Given the description of an element on the screen output the (x, y) to click on. 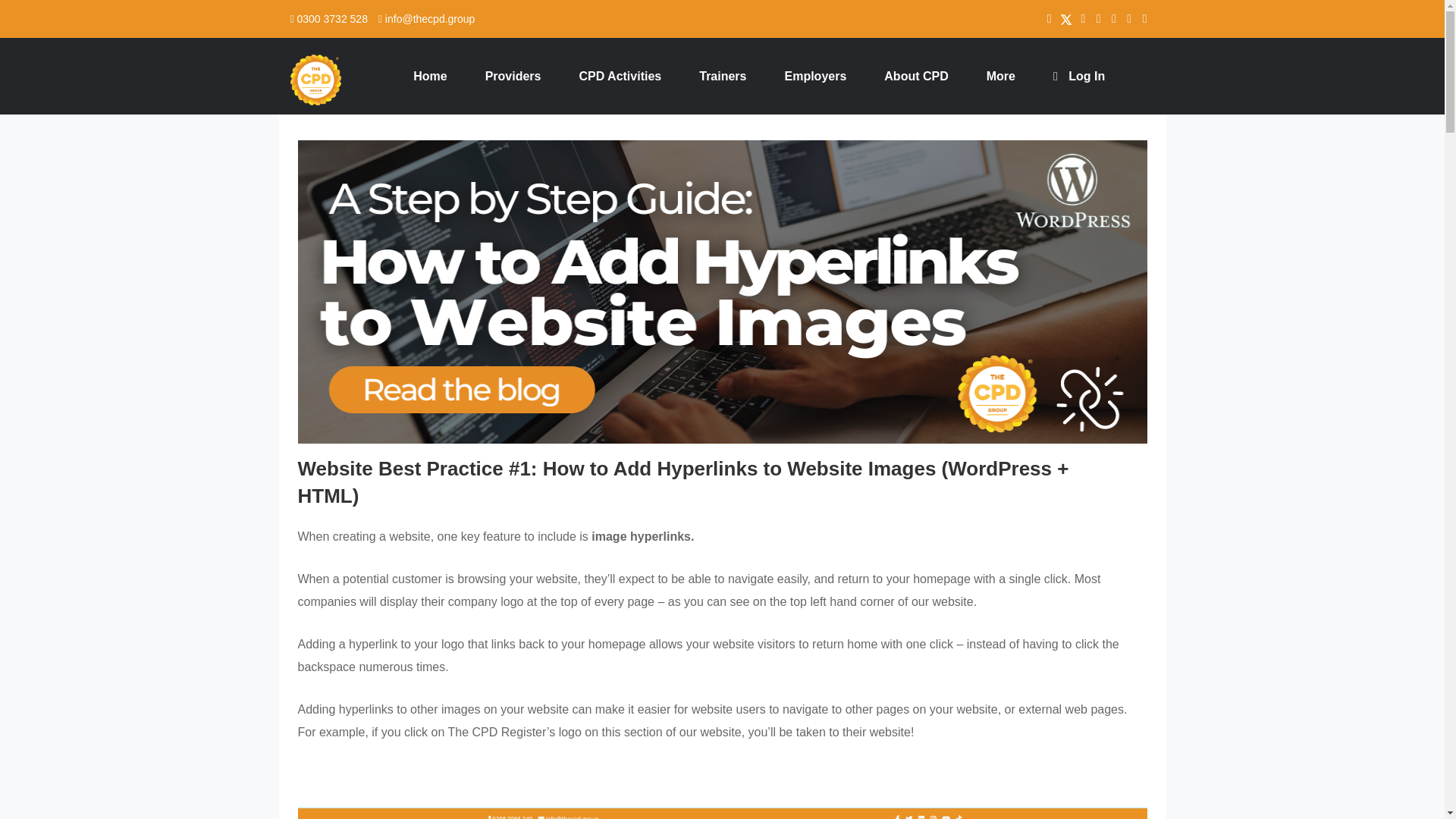
0300 3732 528 (327, 19)
CPD Activities (619, 75)
